Given the description of an element on the screen output the (x, y) to click on. 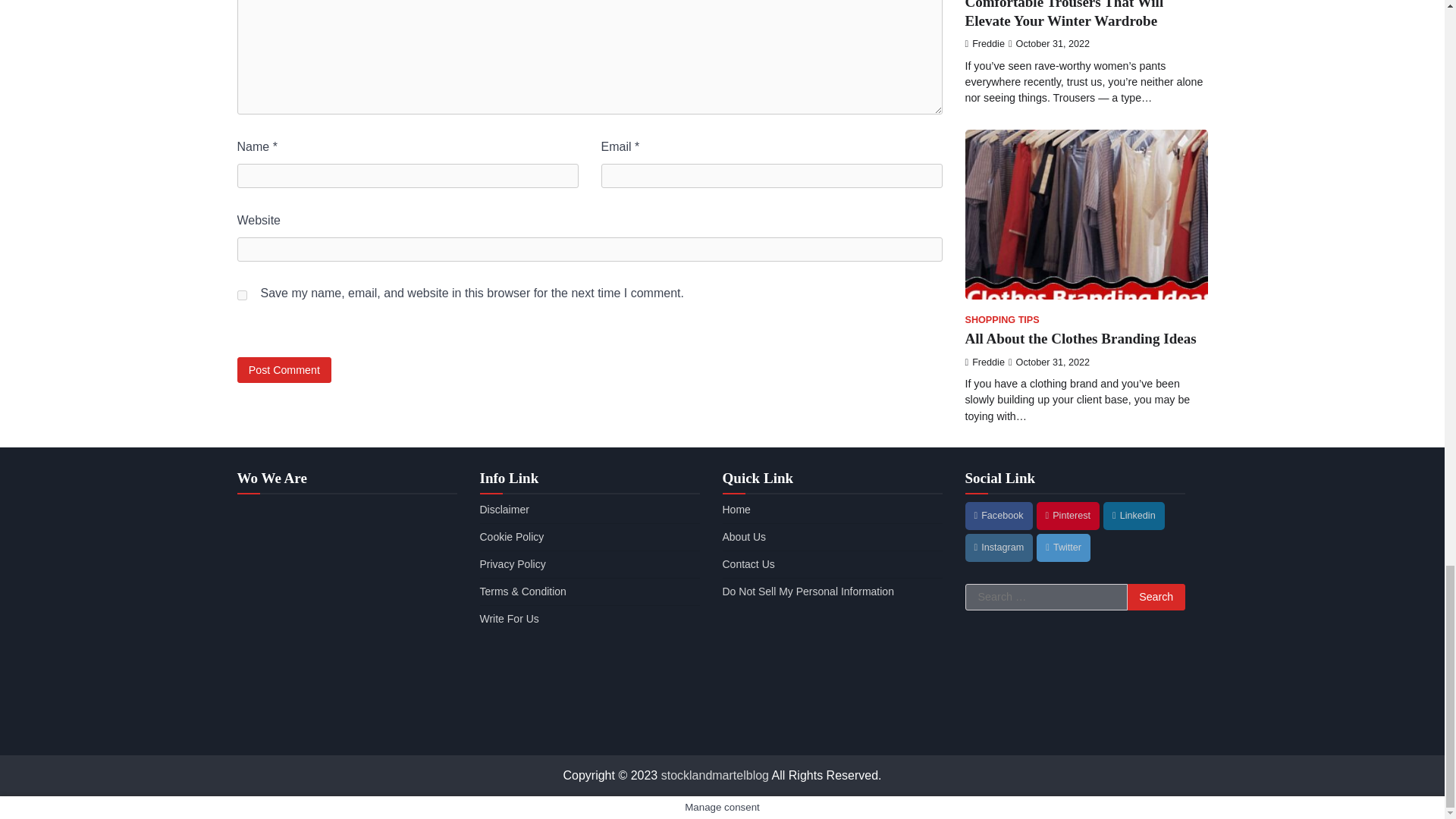
Post Comment (283, 369)
Post Comment (283, 369)
Search (1155, 596)
Search (1155, 596)
yes (240, 295)
DMCA.com Protection Status (832, 727)
